Given the description of an element on the screen output the (x, y) to click on. 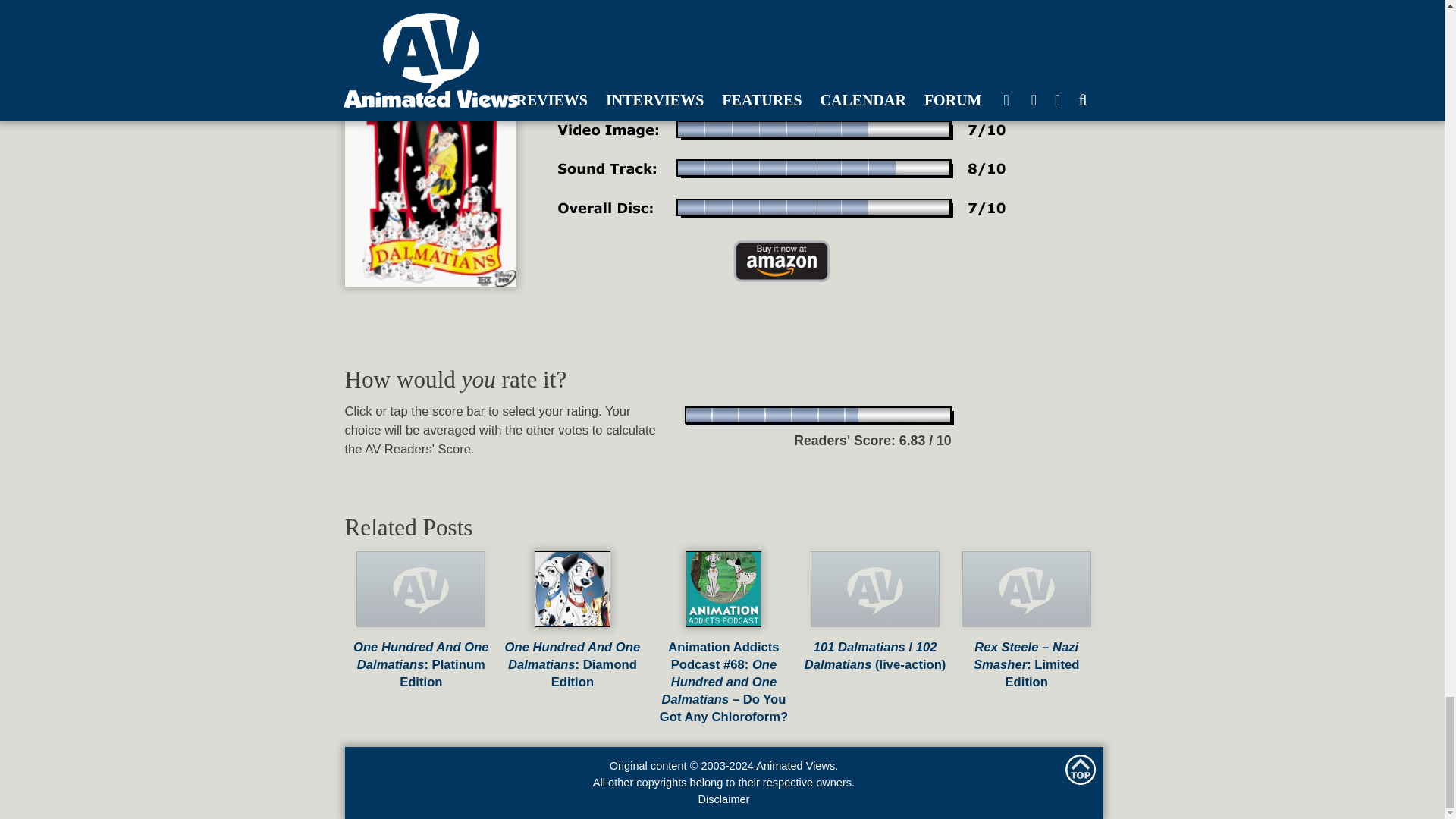
One Hundred And One Dalmatians: Diamond Edition (572, 654)
Disclaimer (723, 799)
One Hundred And One Dalmatians: Diamond Edition (572, 654)
One Hundred And One Dalmatians: Platinum Edition (421, 654)
One Hundred And One Dalmatians: Platinum Edition (421, 654)
